Given the description of an element on the screen output the (x, y) to click on. 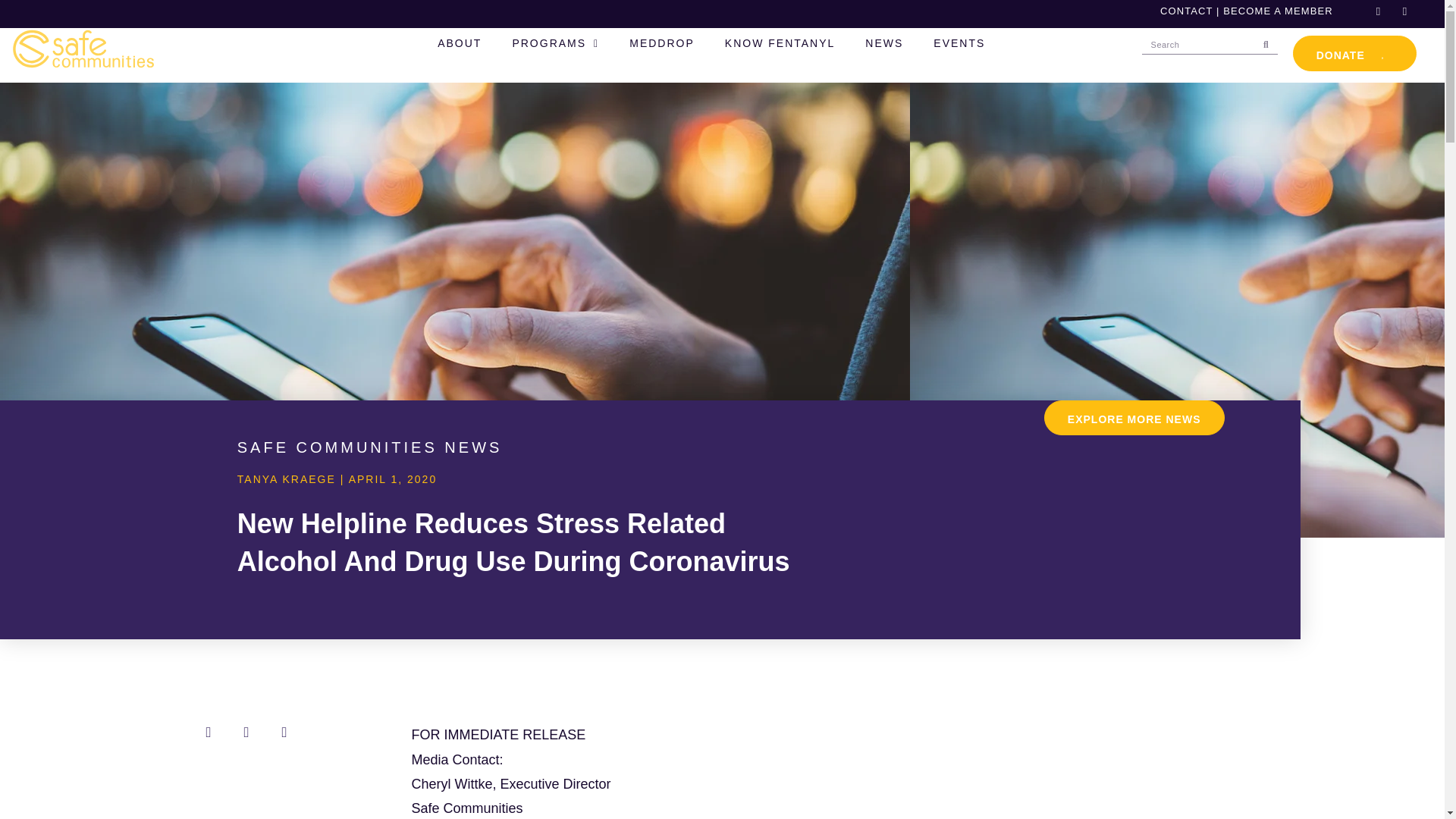
NEWS (884, 43)
EVENTS (959, 43)
ABOUT (459, 43)
KNOW FENTANYL (780, 43)
PROGRAMS (555, 43)
MEDDROP (662, 43)
BECOME A MEMBER (1277, 10)
CONTACT (1186, 10)
